Given the description of an element on the screen output the (x, y) to click on. 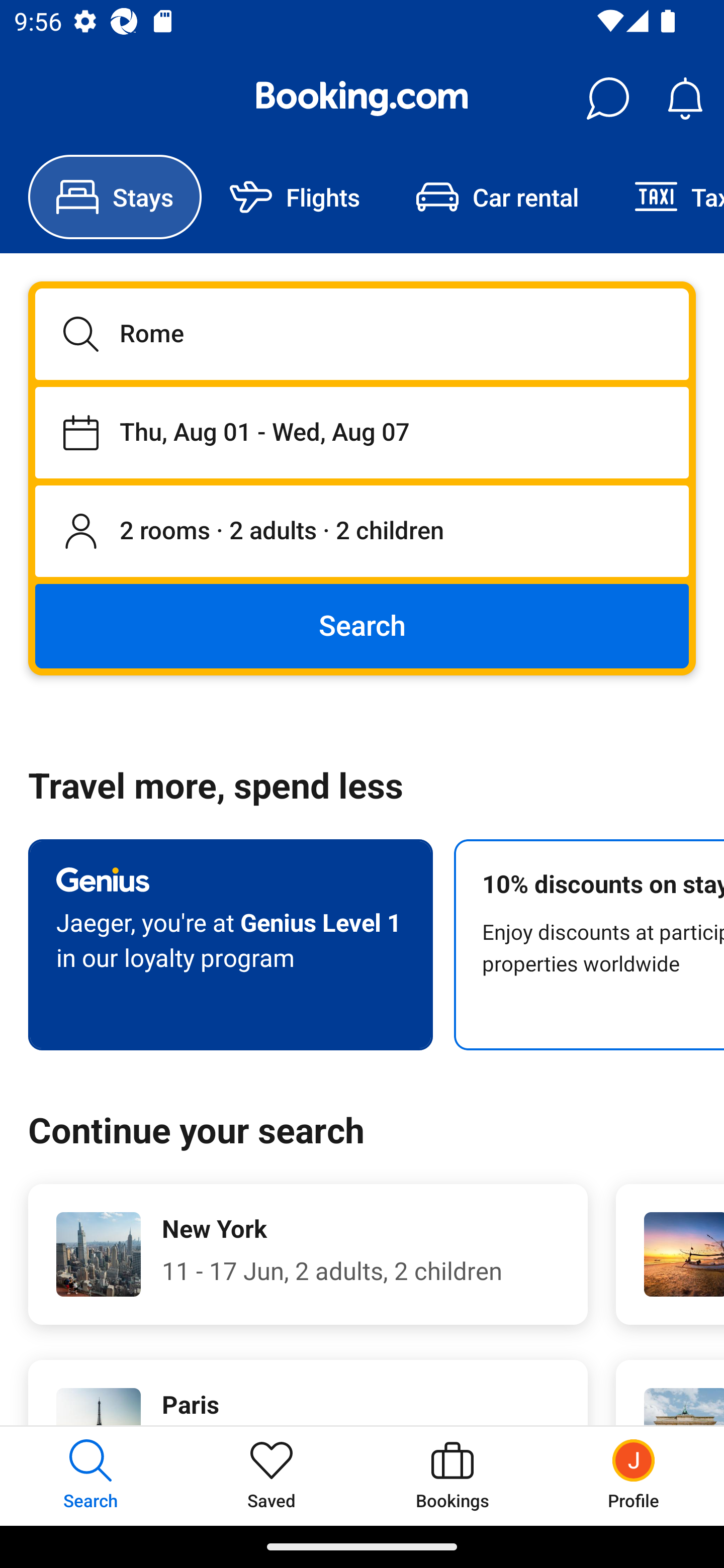
Messages (607, 98)
Notifications (685, 98)
Stays (114, 197)
Flights (294, 197)
Car rental (497, 197)
Taxi (665, 197)
Rome (361, 333)
Staying from Thu, Aug 01 until Wed, Aug 07 (361, 432)
2 rooms, 2 adults, 2 children (361, 531)
Search (361, 625)
New York 11 - 17 Jun, 2 adults, 2 children (307, 1253)
Saved (271, 1475)
Bookings (452, 1475)
Profile (633, 1475)
